Given the description of an element on the screen output the (x, y) to click on. 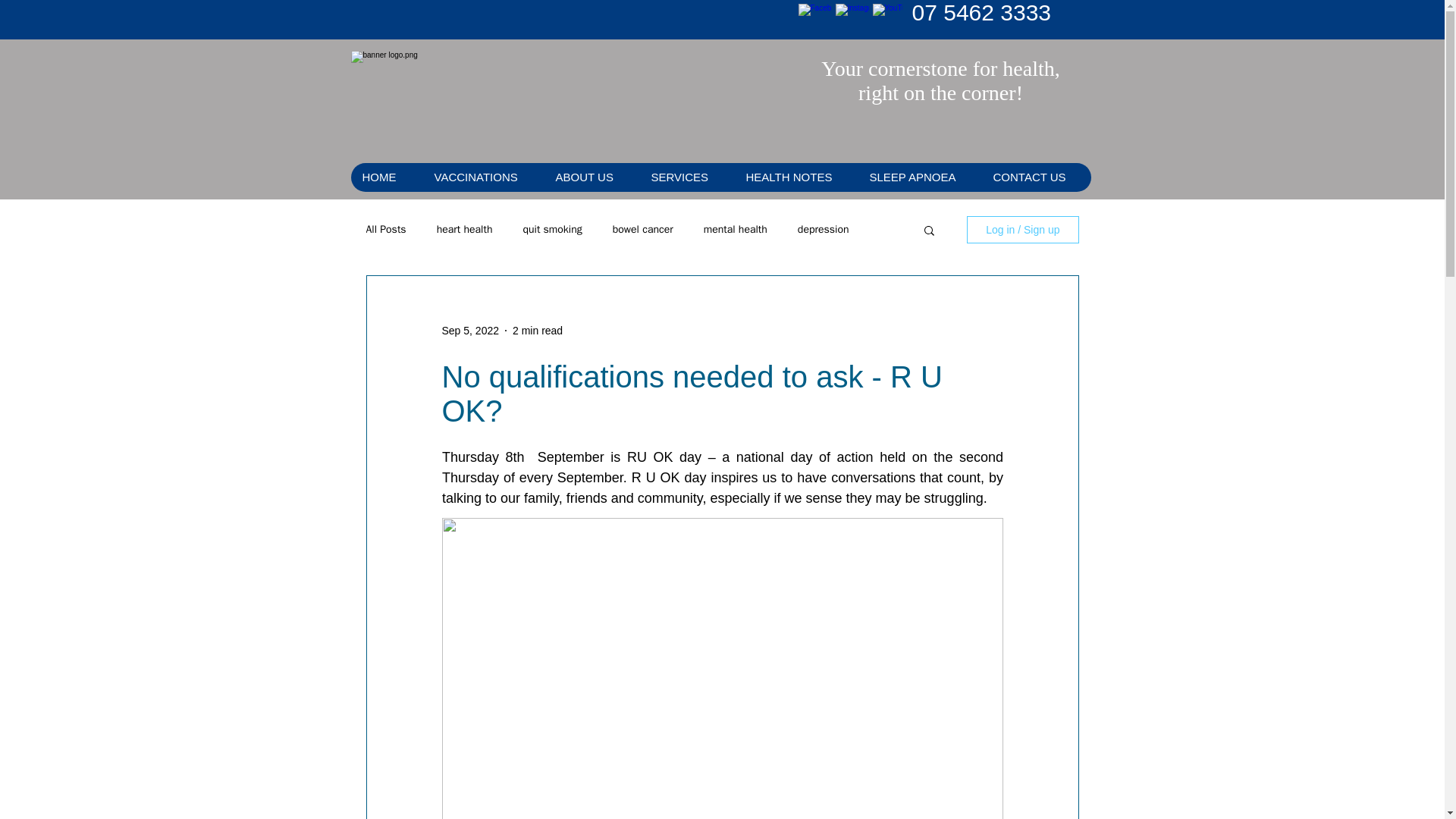
CONTACT US (1035, 176)
bowel cancer (642, 229)
07 5462 3333 (981, 12)
All Posts (385, 229)
Sep 5, 2022 (470, 330)
SLEEP APNOEA (918, 176)
SERVICES (686, 176)
HEALTH NOTES (795, 176)
VACCINATIONS (482, 176)
mental health (735, 229)
depression (822, 229)
quit smoking (551, 229)
2 min read (537, 330)
HOME (386, 176)
heart health (464, 229)
